Given the description of an element on the screen output the (x, y) to click on. 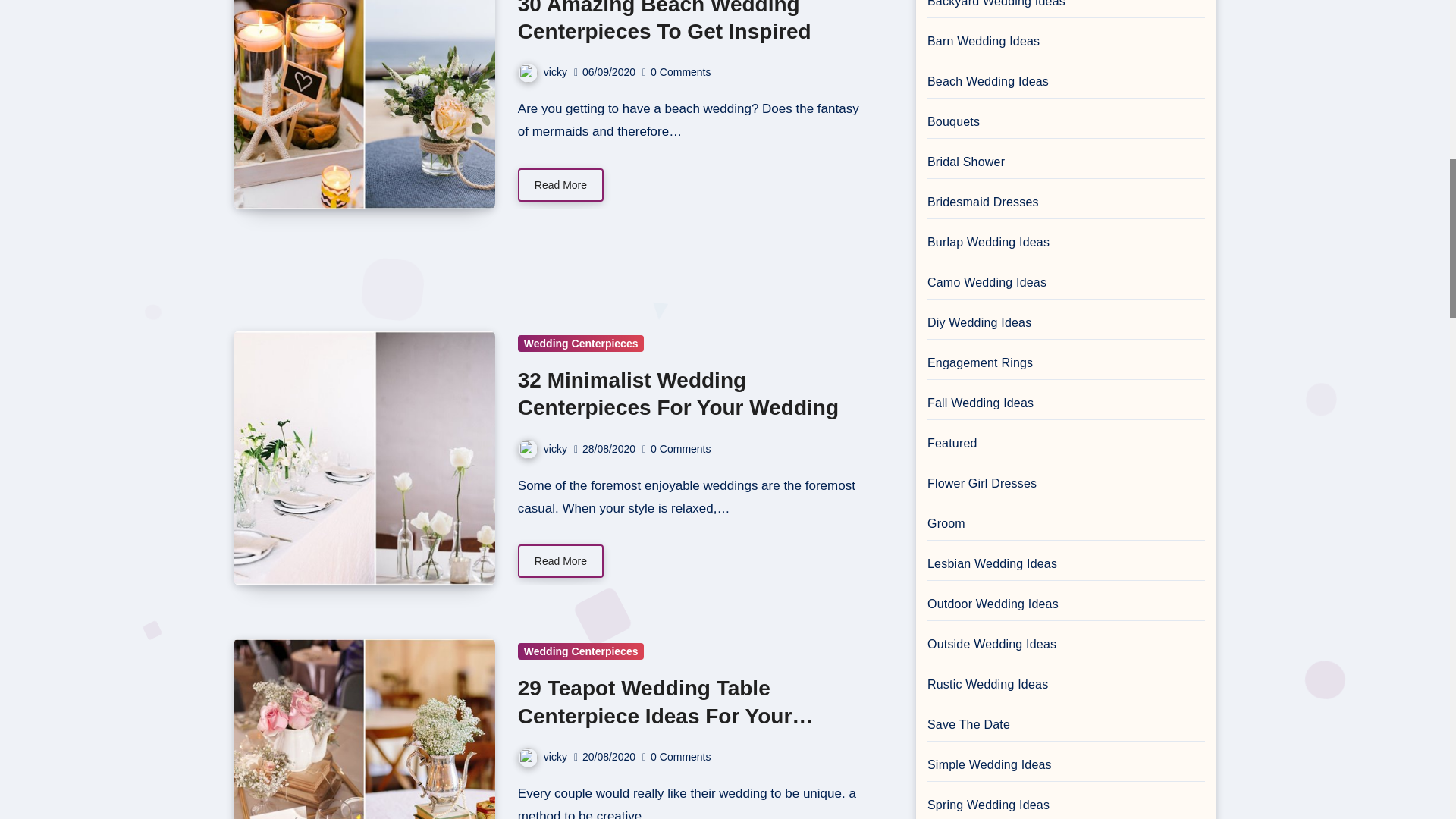
Read More (561, 184)
30 Amazing Beach Wedding Centerpieces To Get Inspired (664, 21)
0Comments (681, 71)
vicky (542, 71)
